Given the description of an element on the screen output the (x, y) to click on. 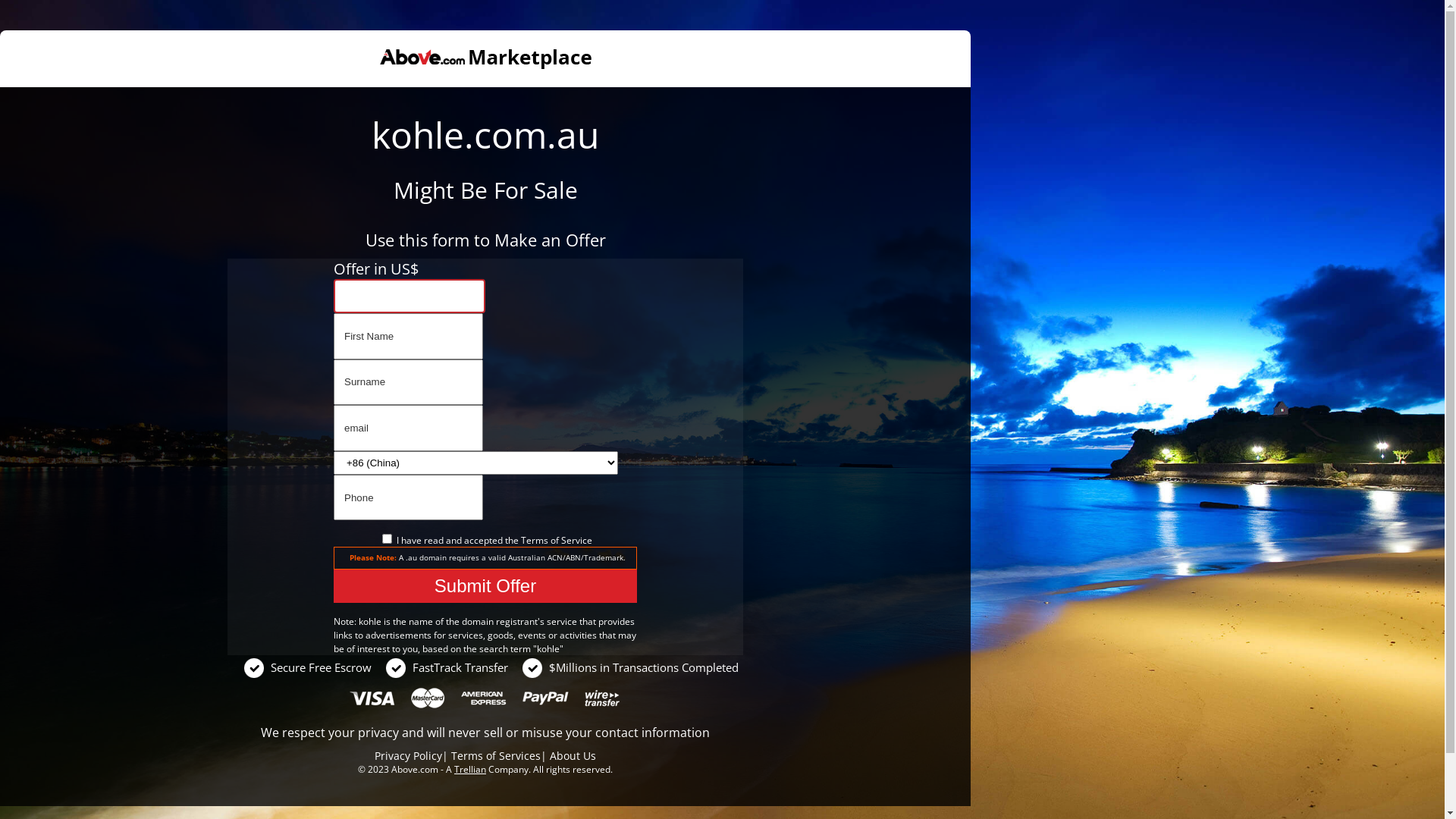
Trellian Element type: text (470, 768)
About Us Element type: text (572, 755)
Submit Offer Element type: text (485, 585)
Terms Element type: text (533, 539)
Terms of Services Element type: text (495, 755)
Privacy Policy Element type: text (408, 755)
